Given the description of an element on the screen output the (x, y) to click on. 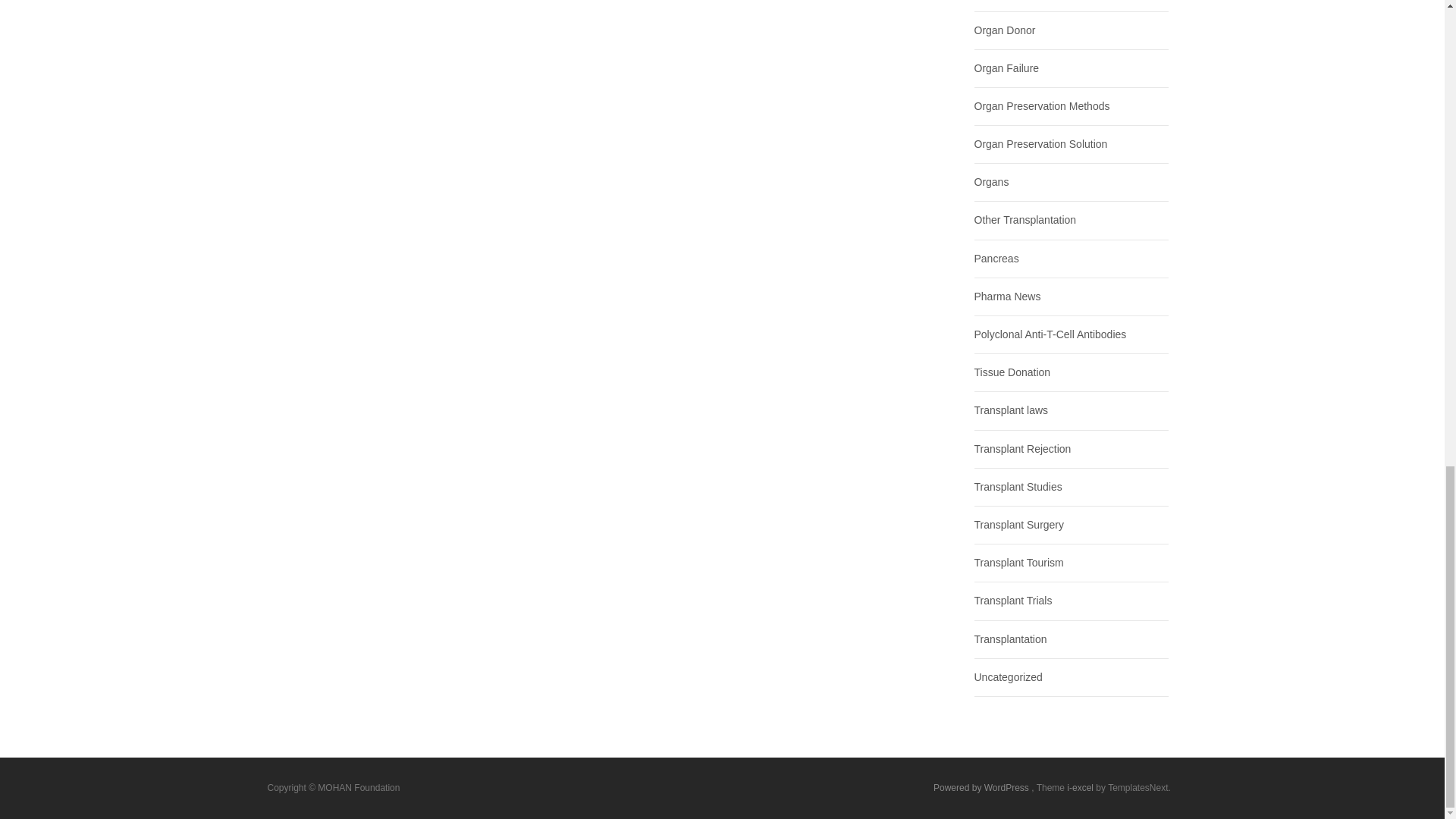
Semantic Personal Publishing Platform (981, 787)
Multipurpose Business WooCommerce Theme (1081, 787)
